Given the description of an element on the screen output the (x, y) to click on. 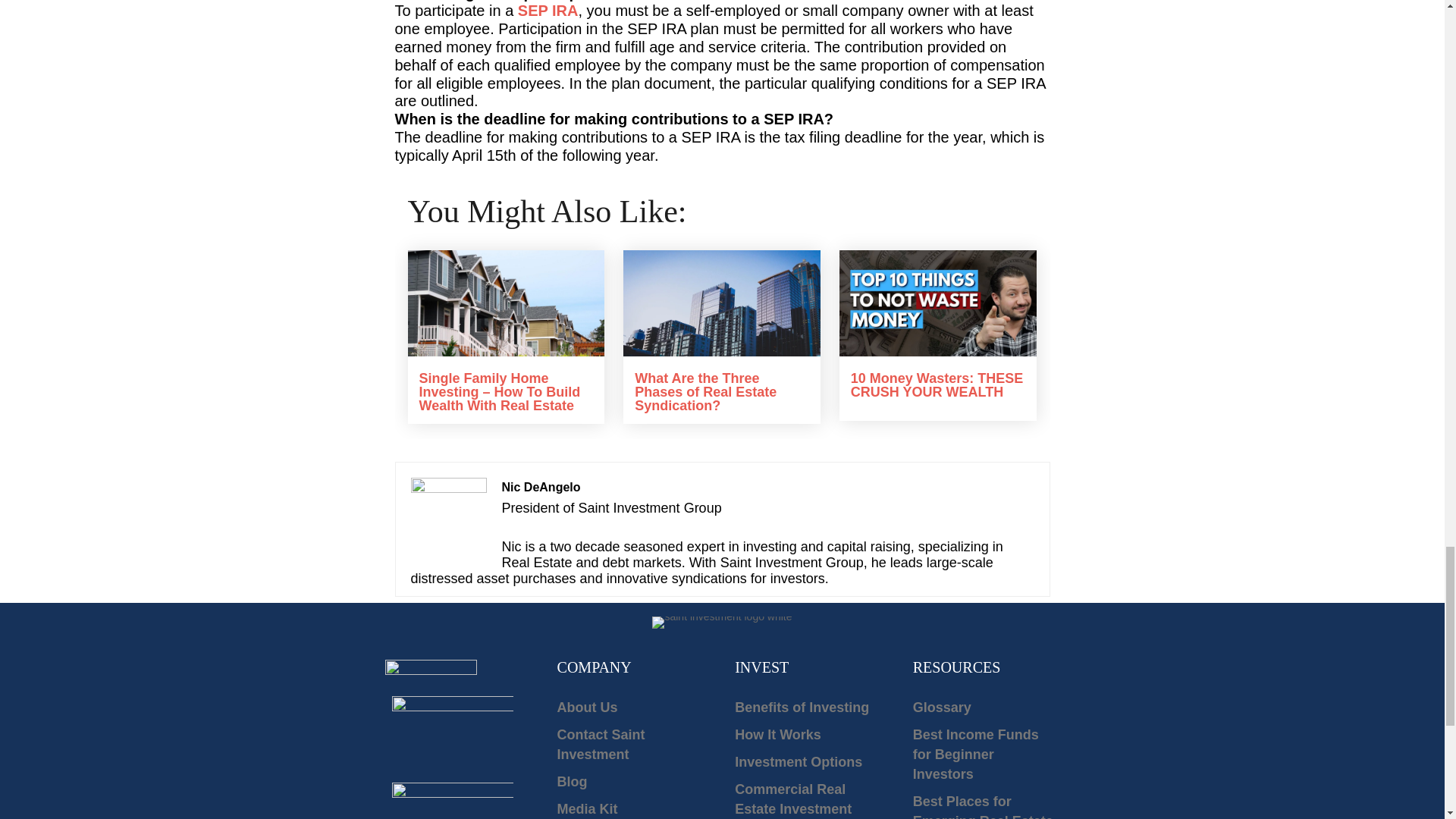
SEP IRA (548, 10)
Forbes-04 (452, 800)
logo-white-e1667815921866 (722, 622)
bbb-rating (452, 730)
